Given the description of an element on the screen output the (x, y) to click on. 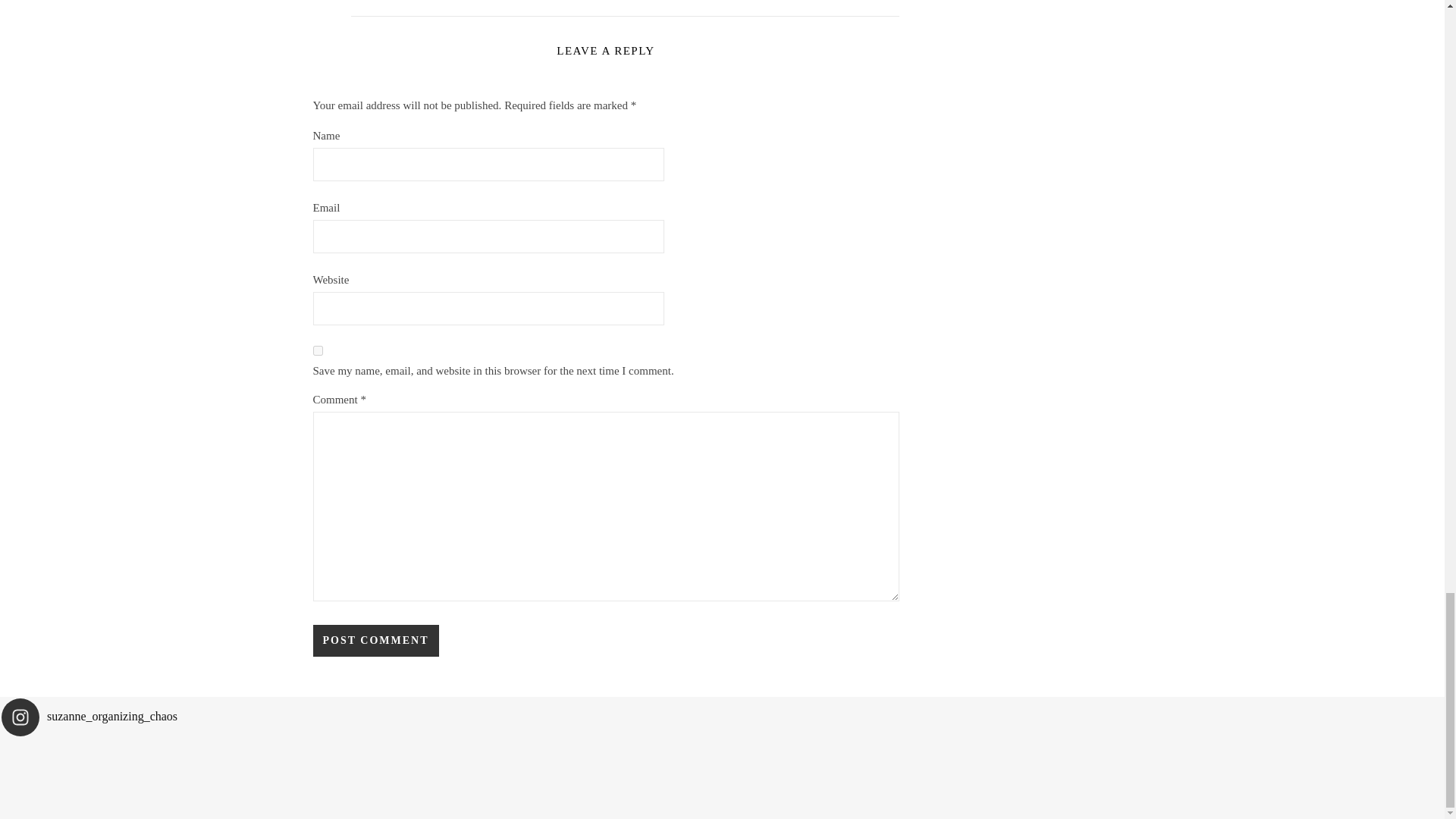
yes (317, 349)
Post Comment (375, 640)
